Given the description of an element on the screen output the (x, y) to click on. 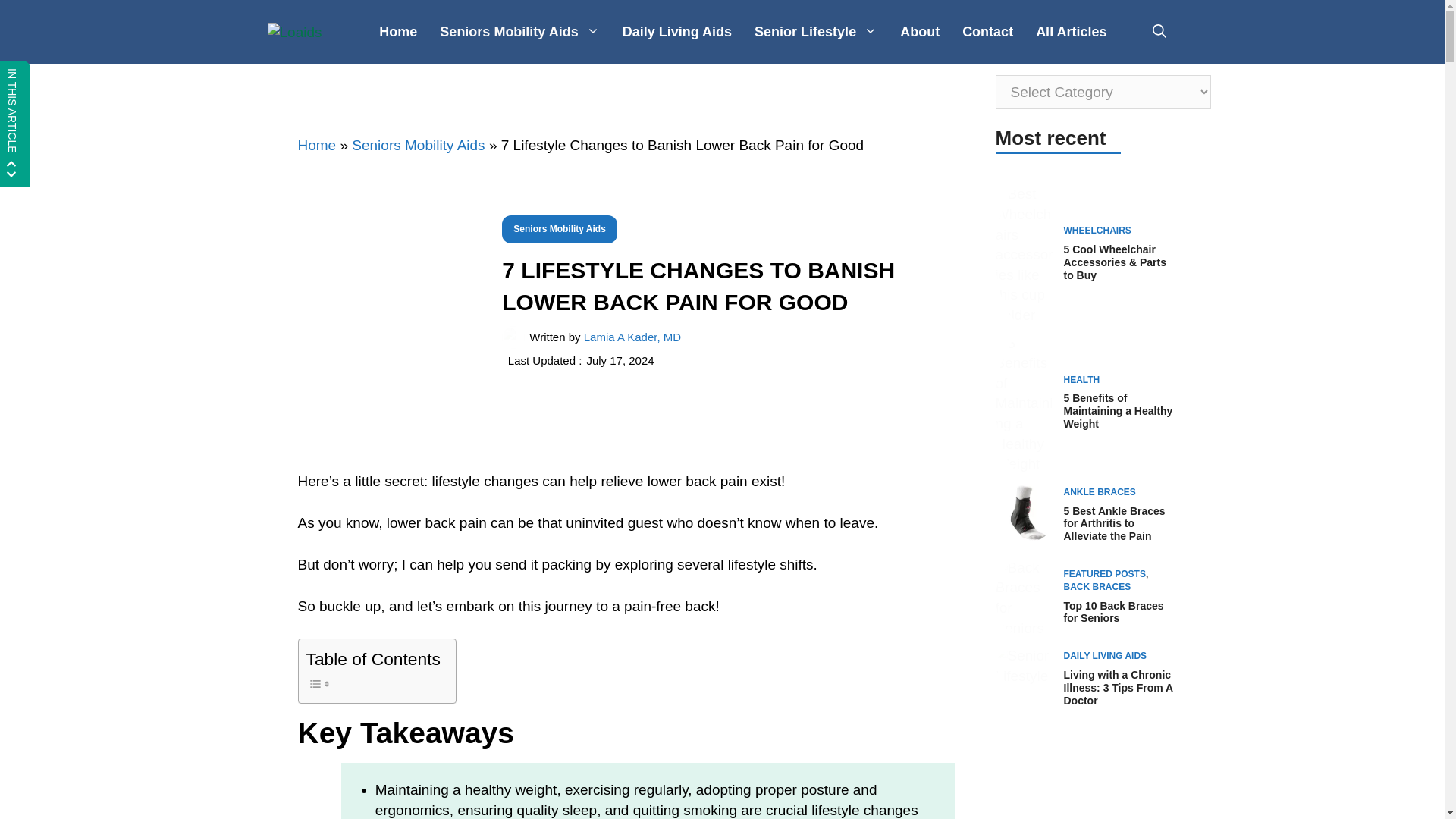
All Articles (1071, 32)
Daily Living Aids (676, 32)
Contact (987, 32)
Seniors Mobility Aids (519, 32)
Home (398, 32)
Senior Lifestyle (815, 32)
About (919, 32)
